Given the description of an element on the screen output the (x, y) to click on. 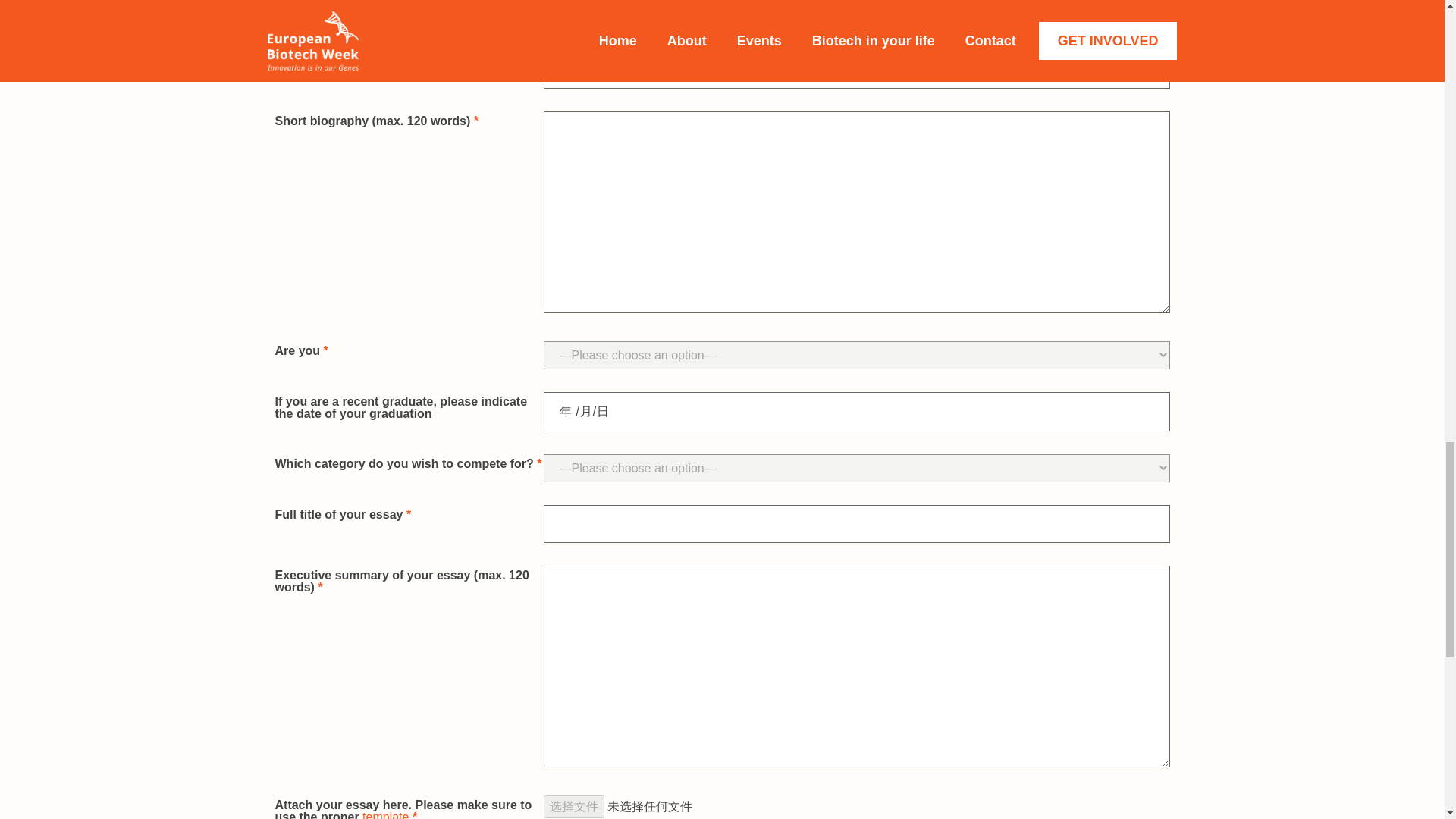
template (385, 814)
